Given the description of an element on the screen output the (x, y) to click on. 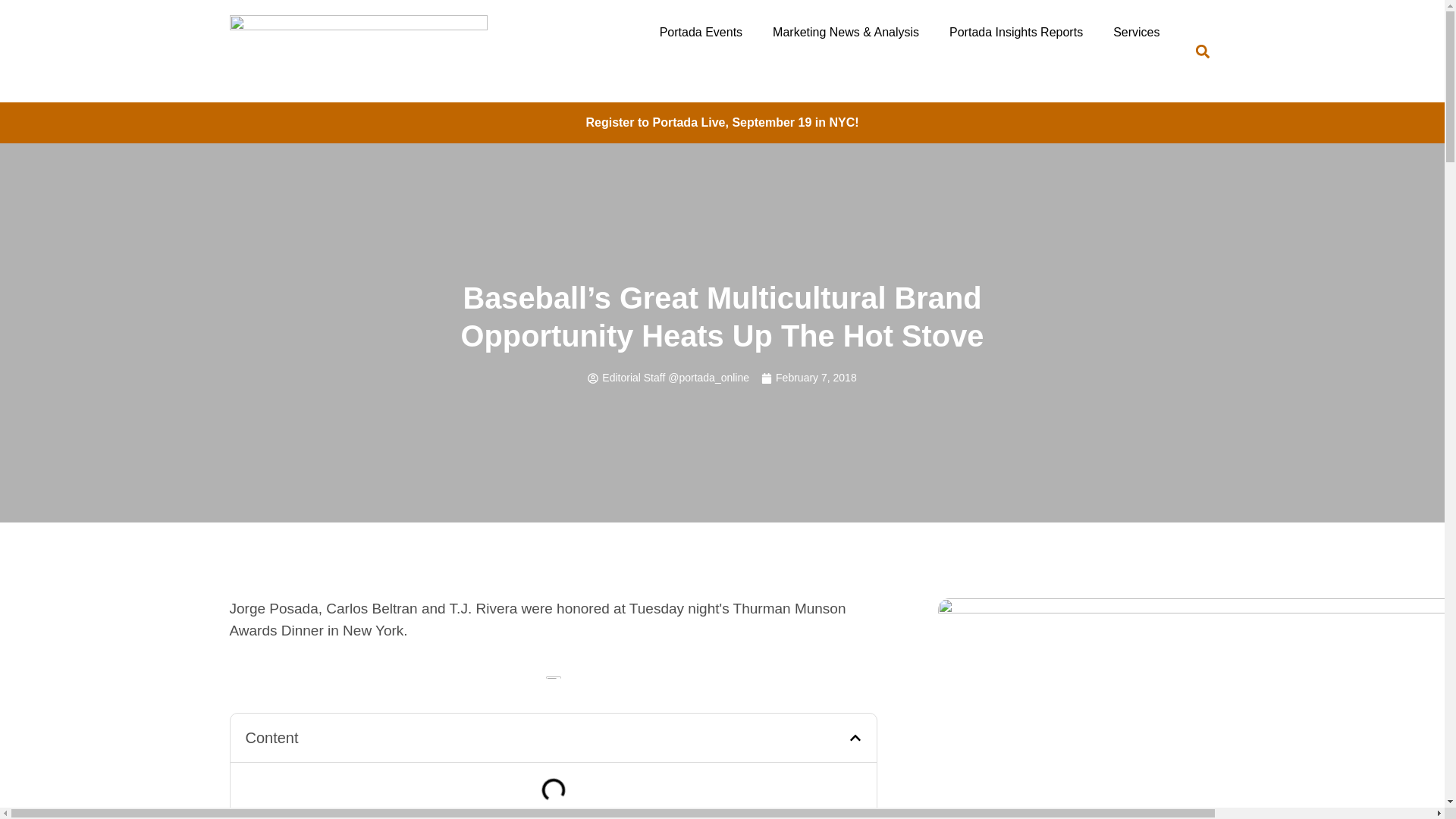
Services (1135, 32)
Portada Insights Reports (1015, 32)
Portada Events (701, 32)
